Given the description of an element on the screen output the (x, y) to click on. 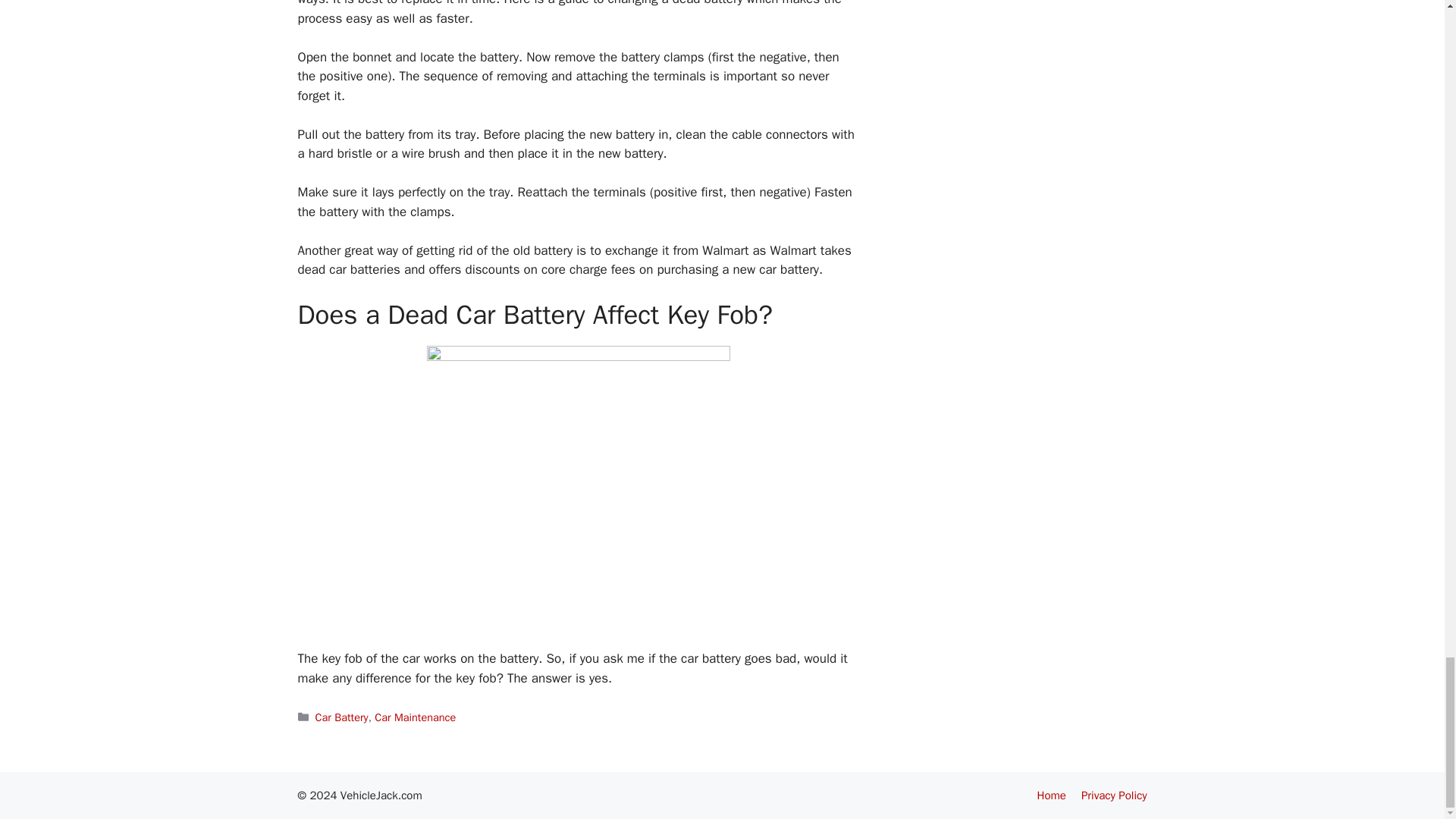
Car Battery (341, 716)
Home (1050, 795)
Car Maintenance (414, 716)
Privacy Policy (1114, 795)
